Given the description of an element on the screen output the (x, y) to click on. 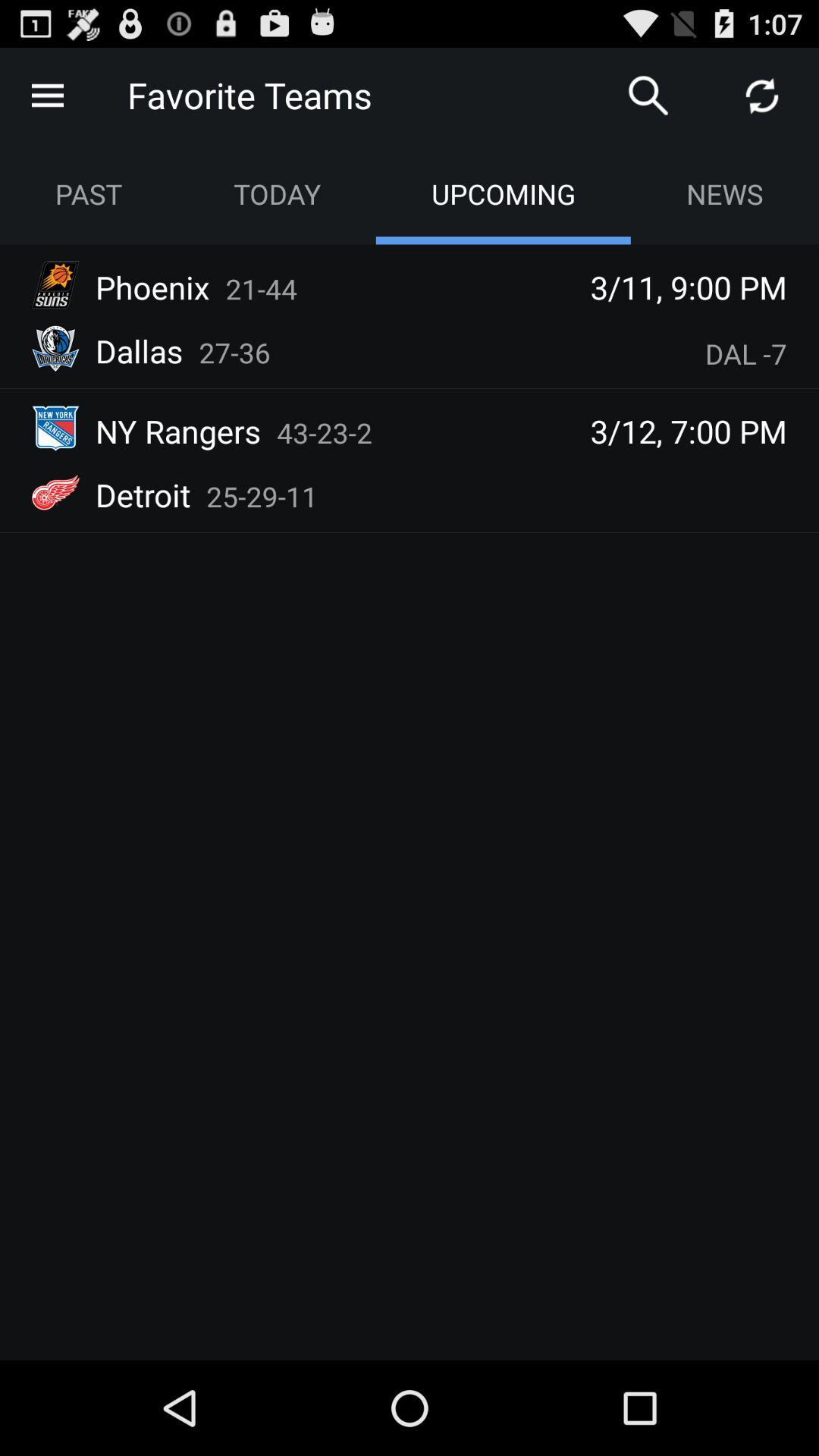
jump until phoenix (152, 286)
